Given the description of an element on the screen output the (x, y) to click on. 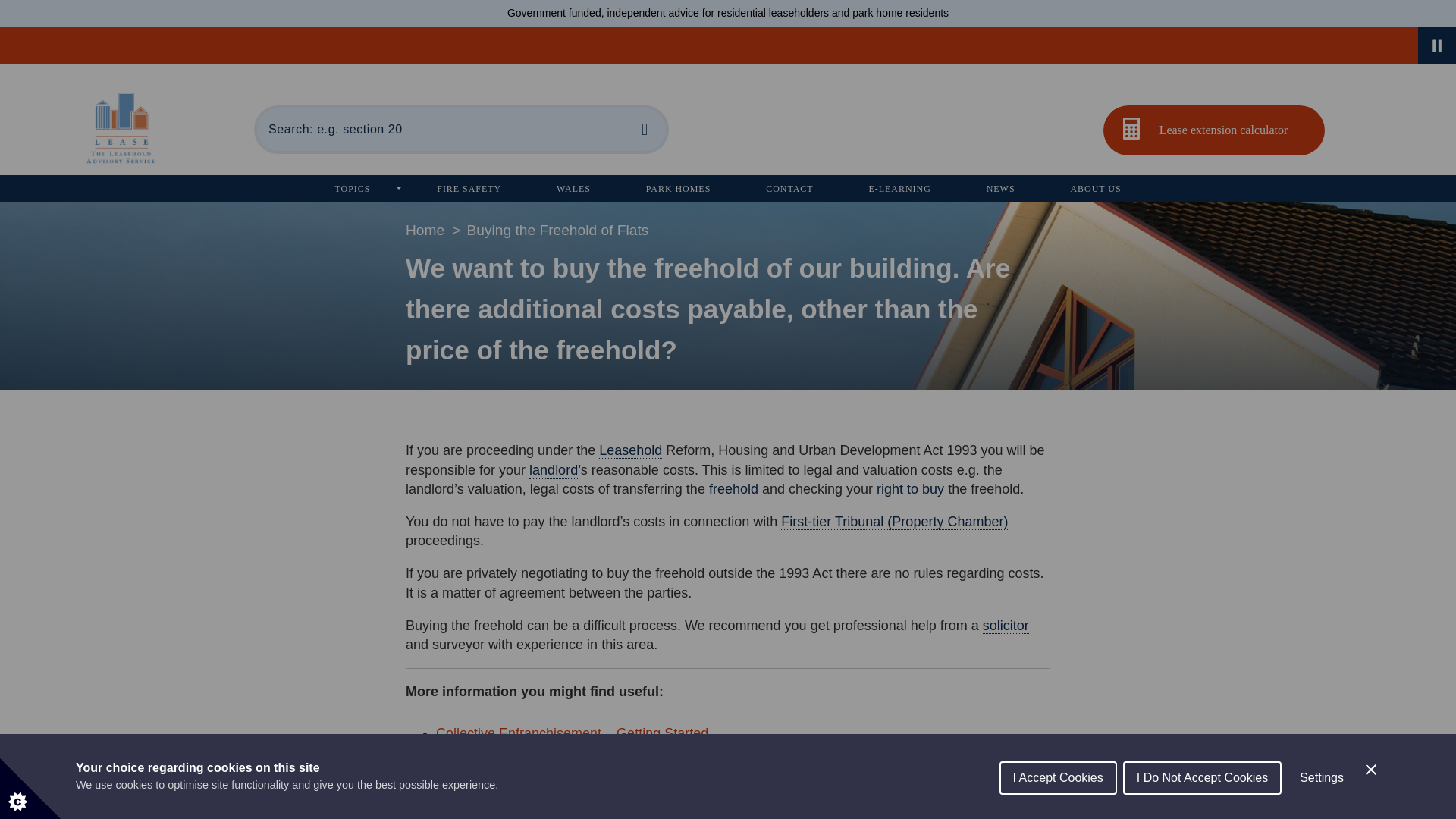
Glossary: Landlord (553, 470)
Submit Search (644, 129)
I Do Not Accept Cookies (1201, 811)
Home (425, 229)
Glossary: Freehold (733, 489)
Glossary: Solicitor (1005, 625)
Cookie Control (30, 788)
Glossary: Leasehold (630, 450)
Settings (1321, 809)
The Leasehold Advisory Service (120, 130)
